Given the description of an element on the screen output the (x, y) to click on. 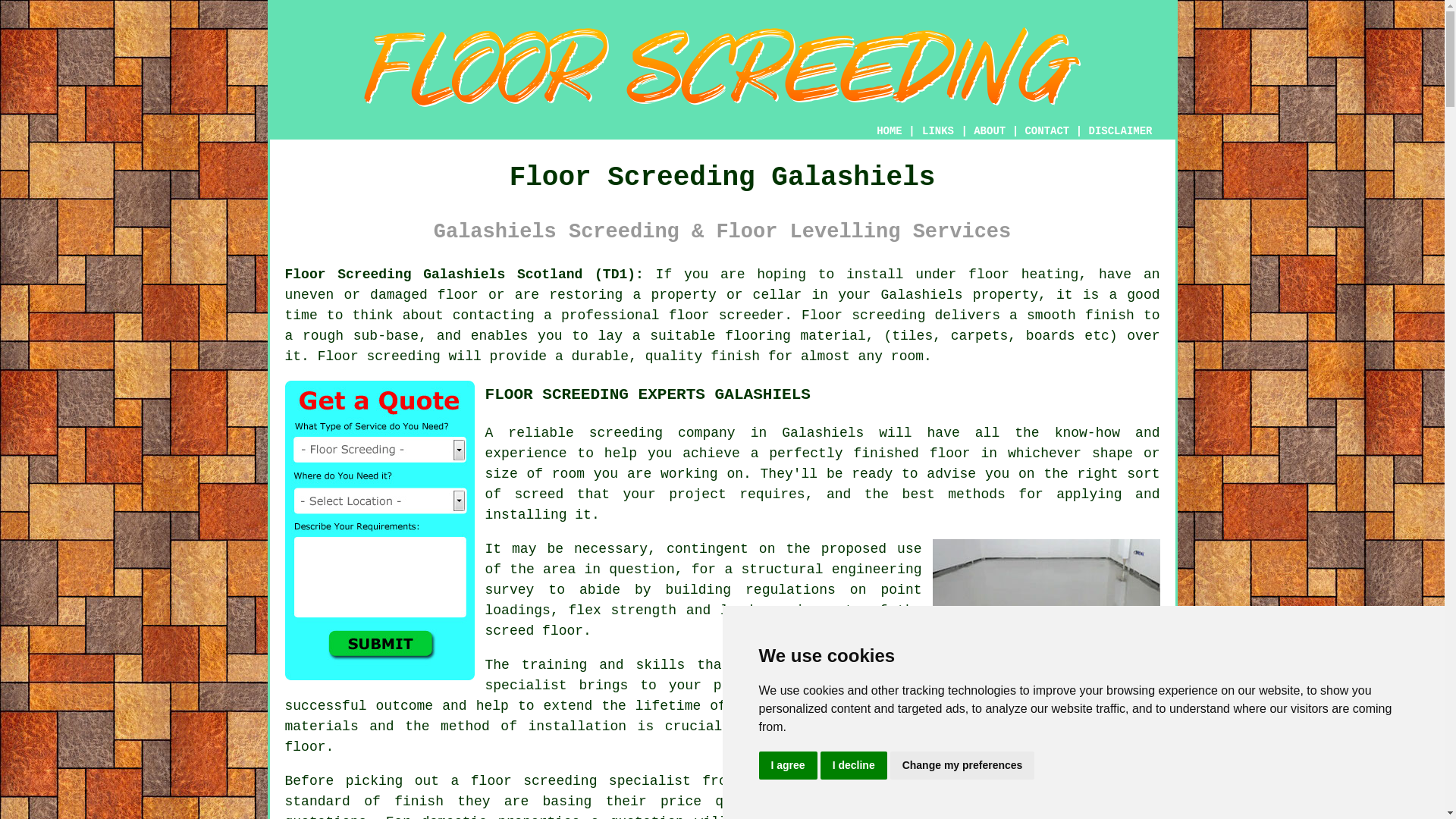
HOME (889, 131)
Change my preferences (962, 765)
I decline (853, 765)
I agree (787, 765)
LINKS (938, 131)
Floor Screeding Galashiels (722, 66)
